Given the description of an element on the screen output the (x, y) to click on. 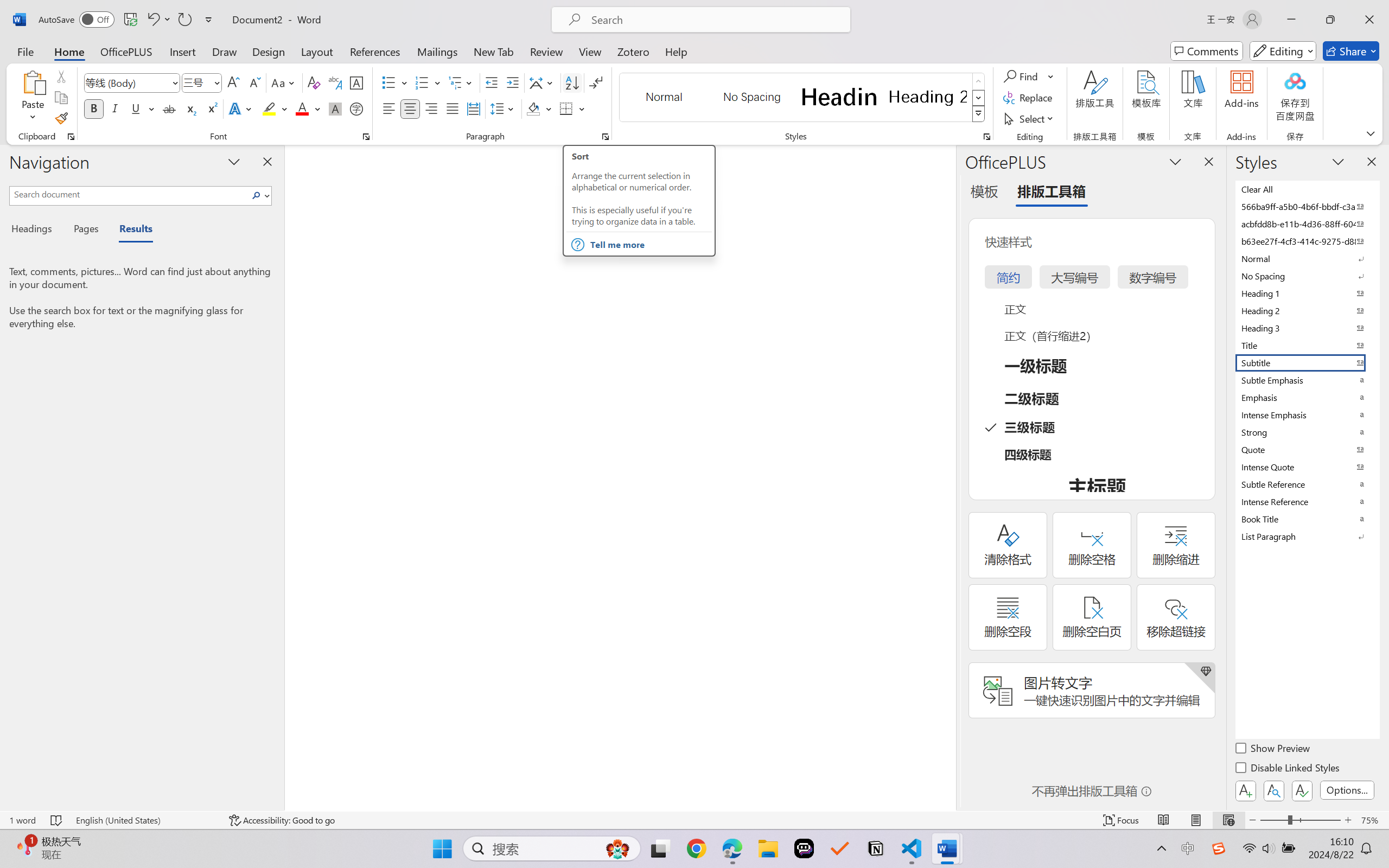
Copy (60, 97)
Search document (128, 193)
Font (126, 82)
Clear All (1306, 188)
